Given the description of an element on the screen output the (x, y) to click on. 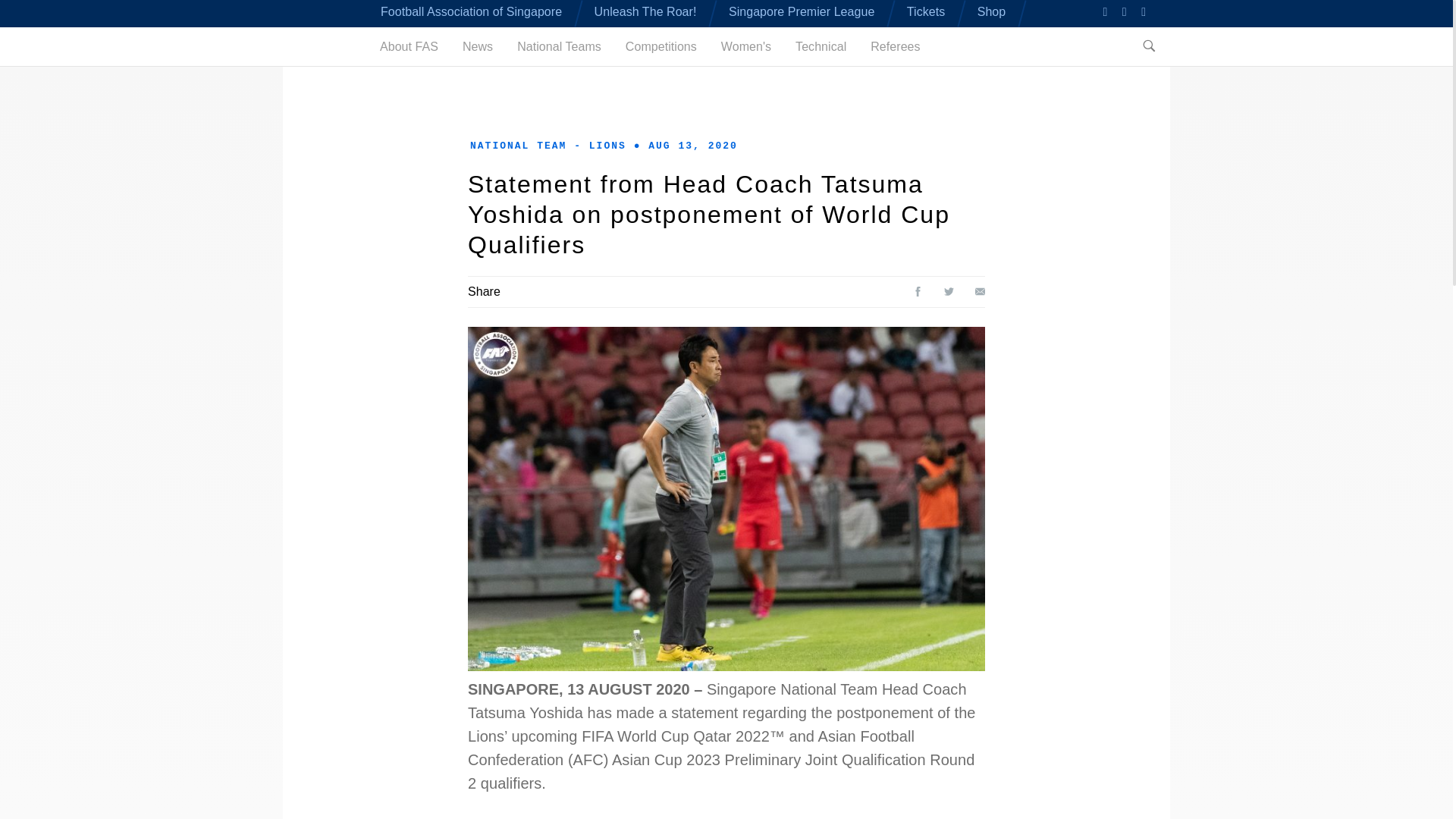
Singapore Premier League (802, 11)
About FAS (409, 46)
Shop (991, 11)
Tickets (925, 11)
Football Association of Singapore (471, 11)
National Teams (558, 46)
Unleash The Roar! (645, 11)
